Given the description of an element on the screen output the (x, y) to click on. 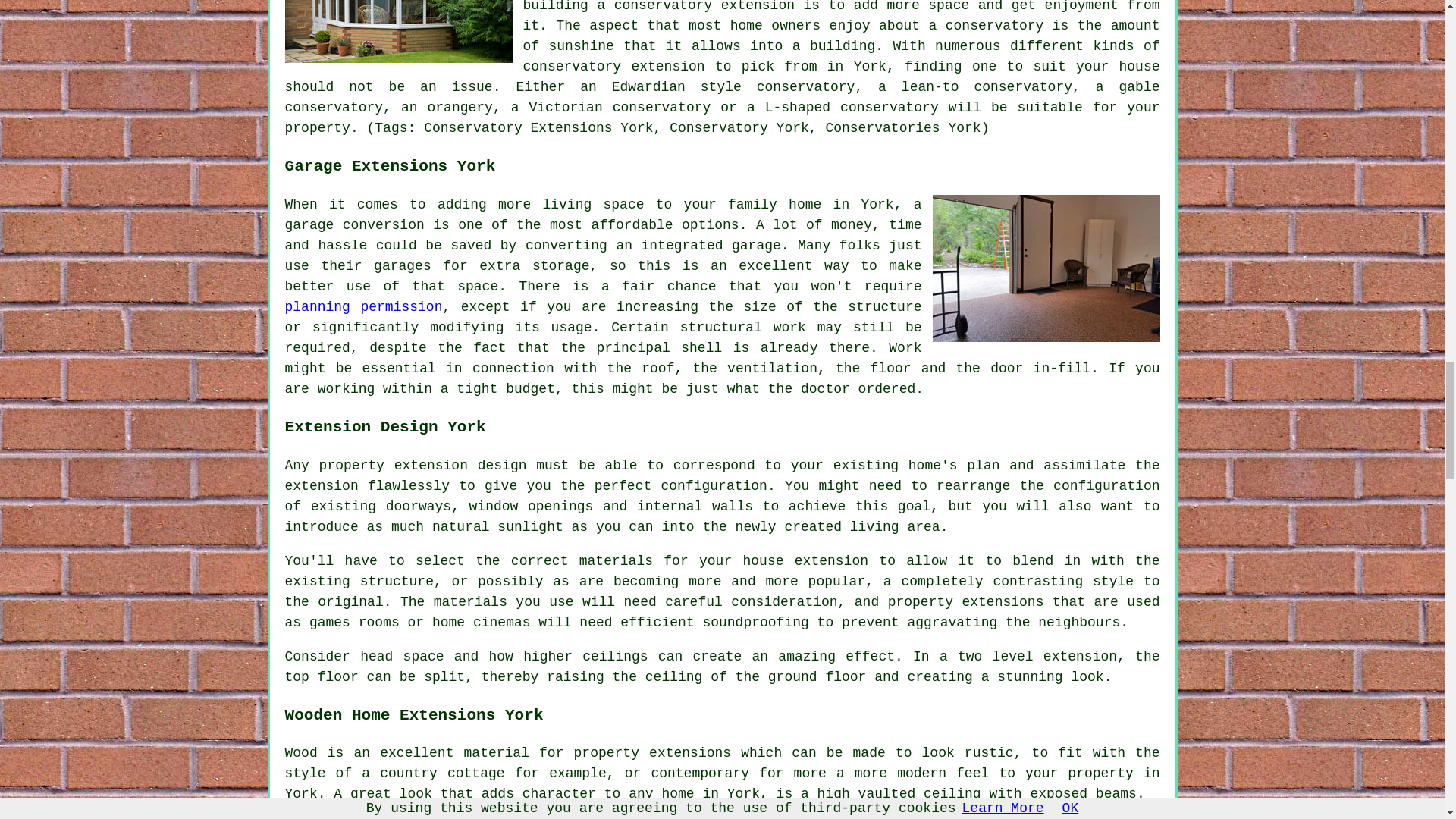
property extensions (652, 752)
Garage Conversions York, North Yorkshire (1046, 268)
